Given the description of an element on the screen output the (x, y) to click on. 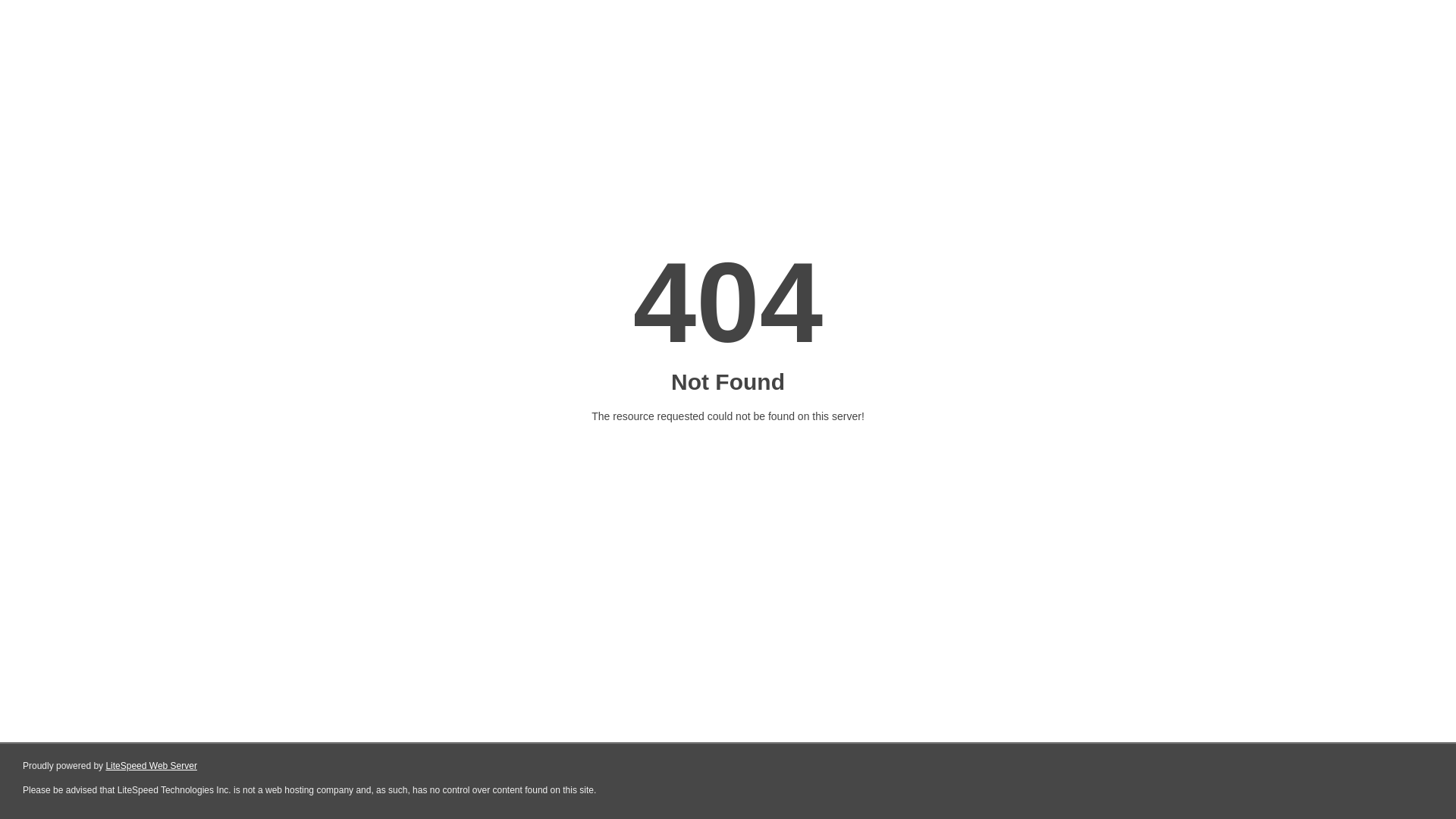
LiteSpeed Web Server Element type: text (151, 765)
